Given the description of an element on the screen output the (x, y) to click on. 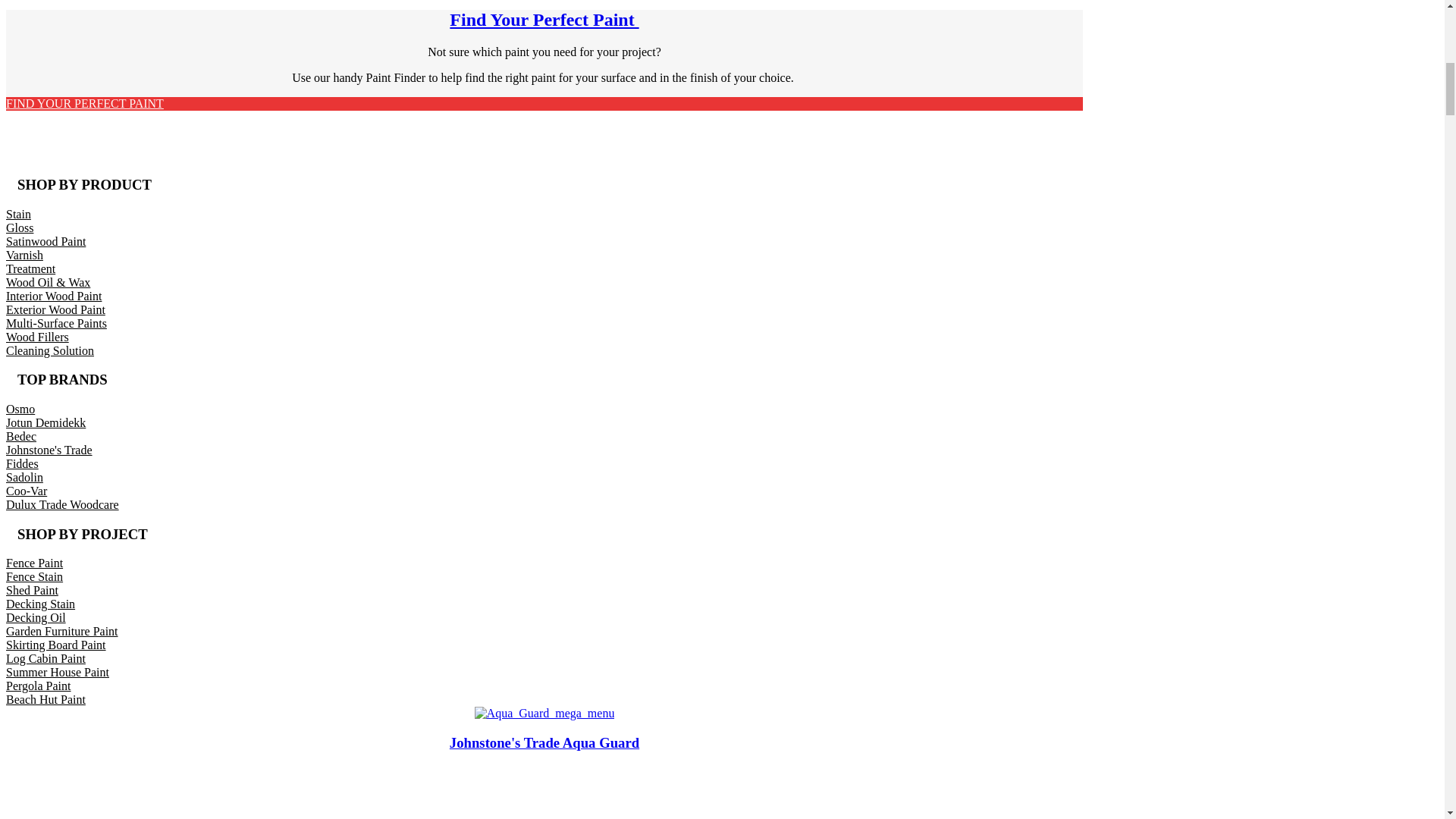
FIND YOUR PERFECT PAINT (84, 103)
Find Your Perfect Paint  (544, 19)
Product Finder (84, 103)
